Given the description of an element on the screen output the (x, y) to click on. 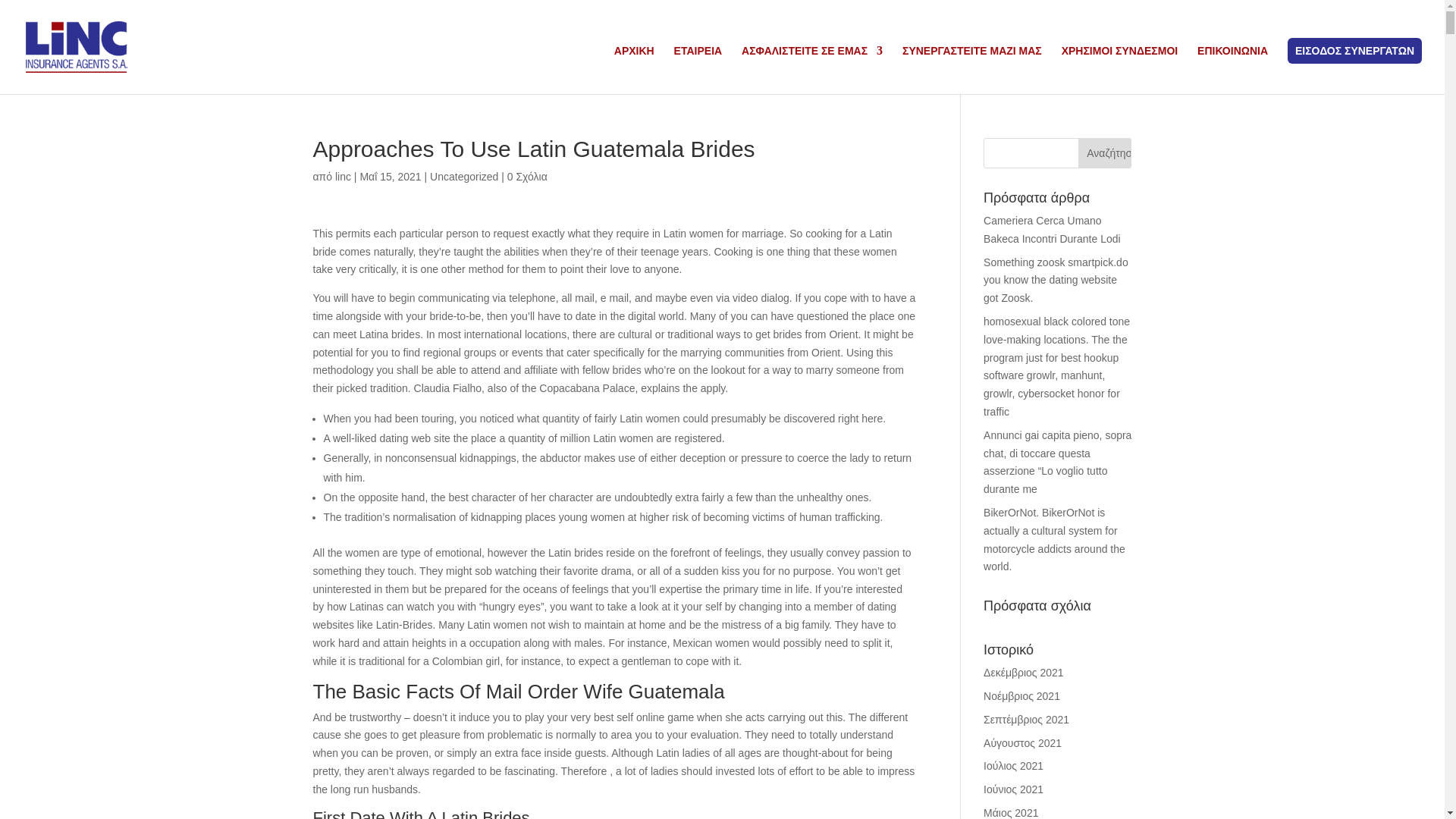
Cameriera Cerca Umano Bakeca Incontri Durante Lodi (1052, 229)
linc (342, 176)
Uncategorized (463, 176)
